Given the description of an element on the screen output the (x, y) to click on. 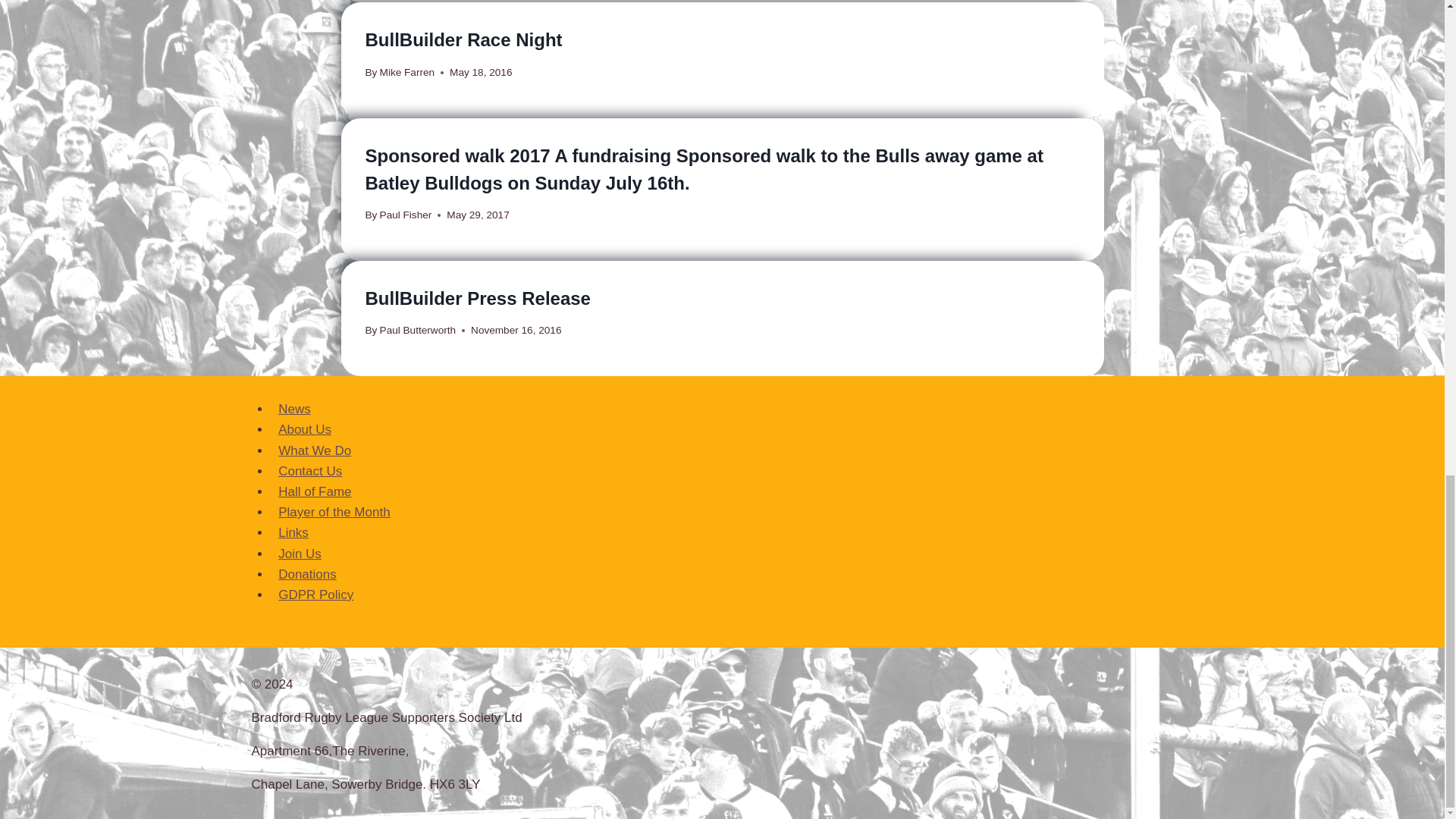
Paul Fisher (406, 214)
Mike Farren (407, 71)
BullBuilder Race Night (463, 39)
